Given the description of an element on the screen output the (x, y) to click on. 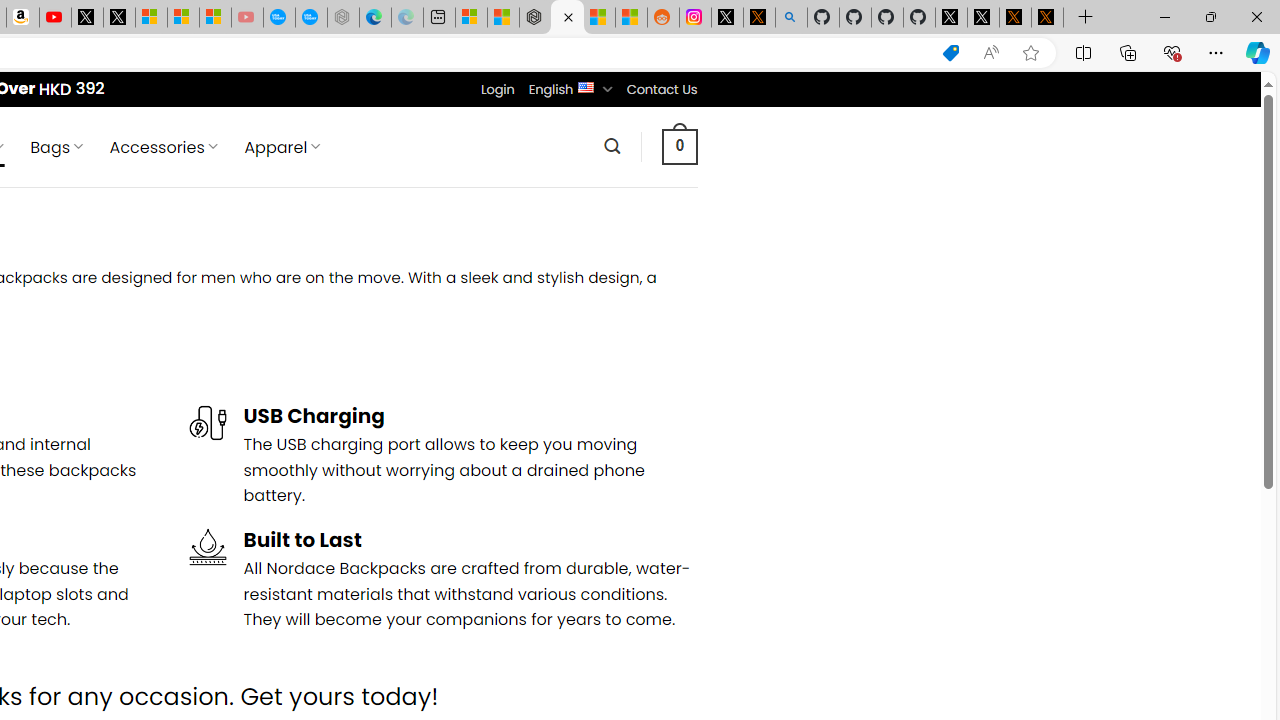
The most popular Google 'how to' searches (310, 17)
Gloom - YouTube - Sleeping (246, 17)
Log in to X / X (727, 17)
Read aloud this page (Ctrl+Shift+U) (991, 53)
Login (497, 89)
github - Search (791, 17)
Opinion: Op-Ed and Commentary - USA TODAY (279, 17)
Day 1: Arriving in Yemen (surreal to be here) - YouTube (54, 17)
GitHub (@github) / X (983, 17)
Nordace - Nordace has arrived Hong Kong - Sleeping (343, 17)
